Given the description of an element on the screen output the (x, y) to click on. 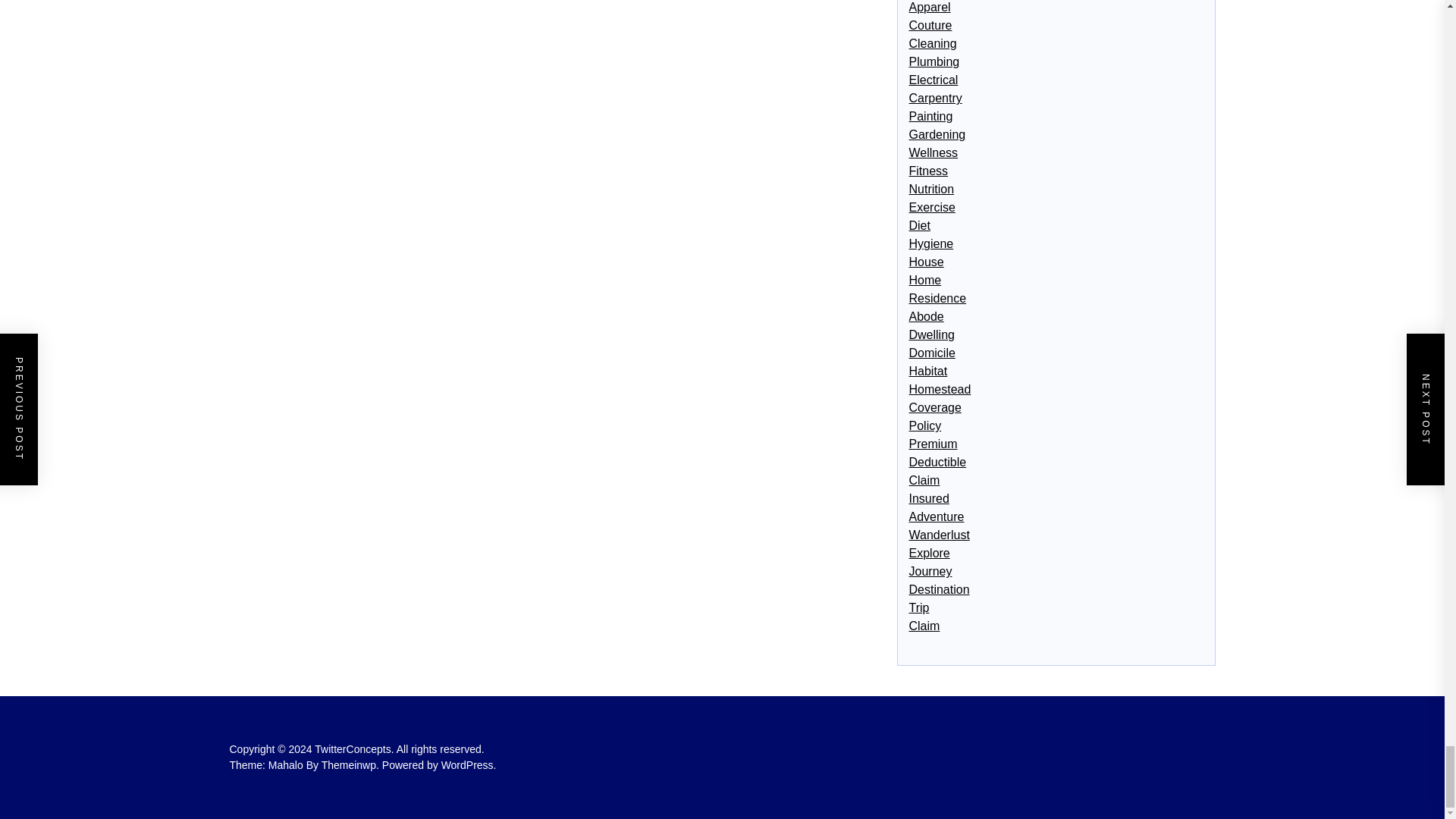
Themeinwp (351, 765)
WordPress (468, 765)
TwitterConcepts (355, 748)
